Given the description of an element on the screen output the (x, y) to click on. 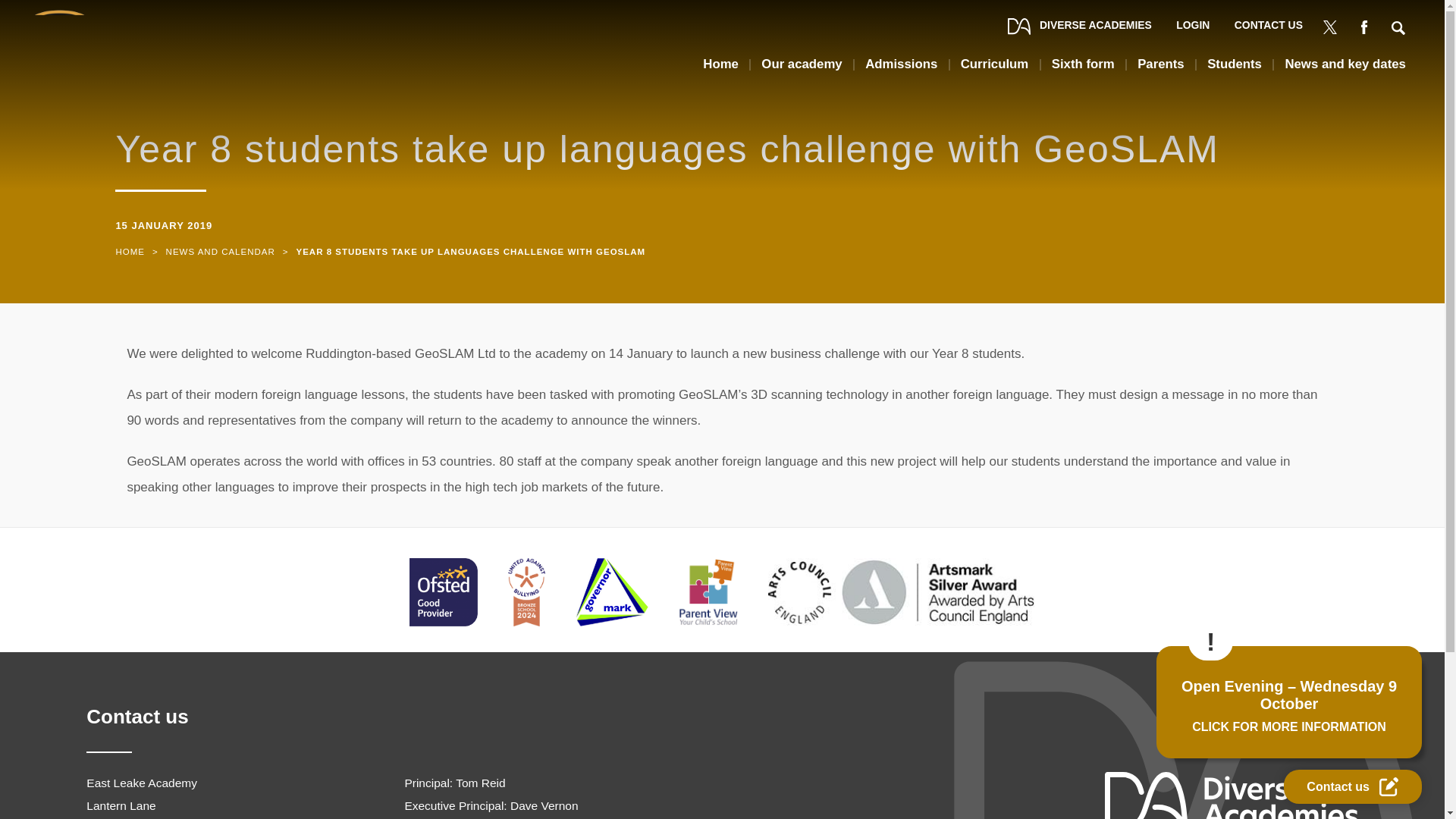
Curriculum (994, 70)
Year 8 students take up languages challenge with GeoSLAM (470, 251)
Home (129, 251)
Our academy (801, 70)
Sixth form (1083, 70)
Admissions (900, 70)
